Given the description of an element on the screen output the (x, y) to click on. 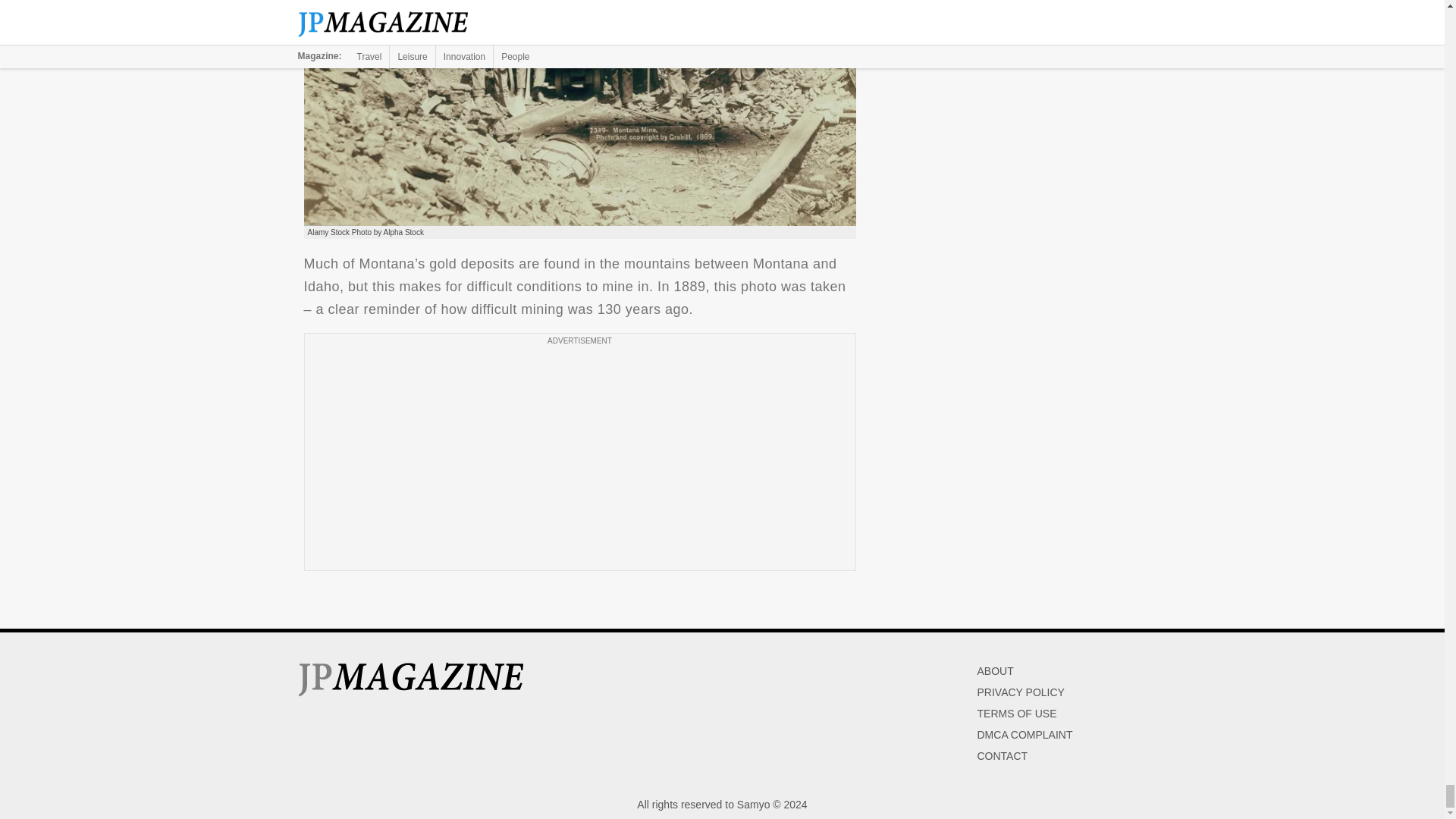
CONTACT (1001, 756)
PRIVACY POLICY (1020, 692)
ABOUT (994, 671)
DMCA COMPLAINT (1023, 734)
TERMS OF USE (1016, 713)
